Given the description of an element on the screen output the (x, y) to click on. 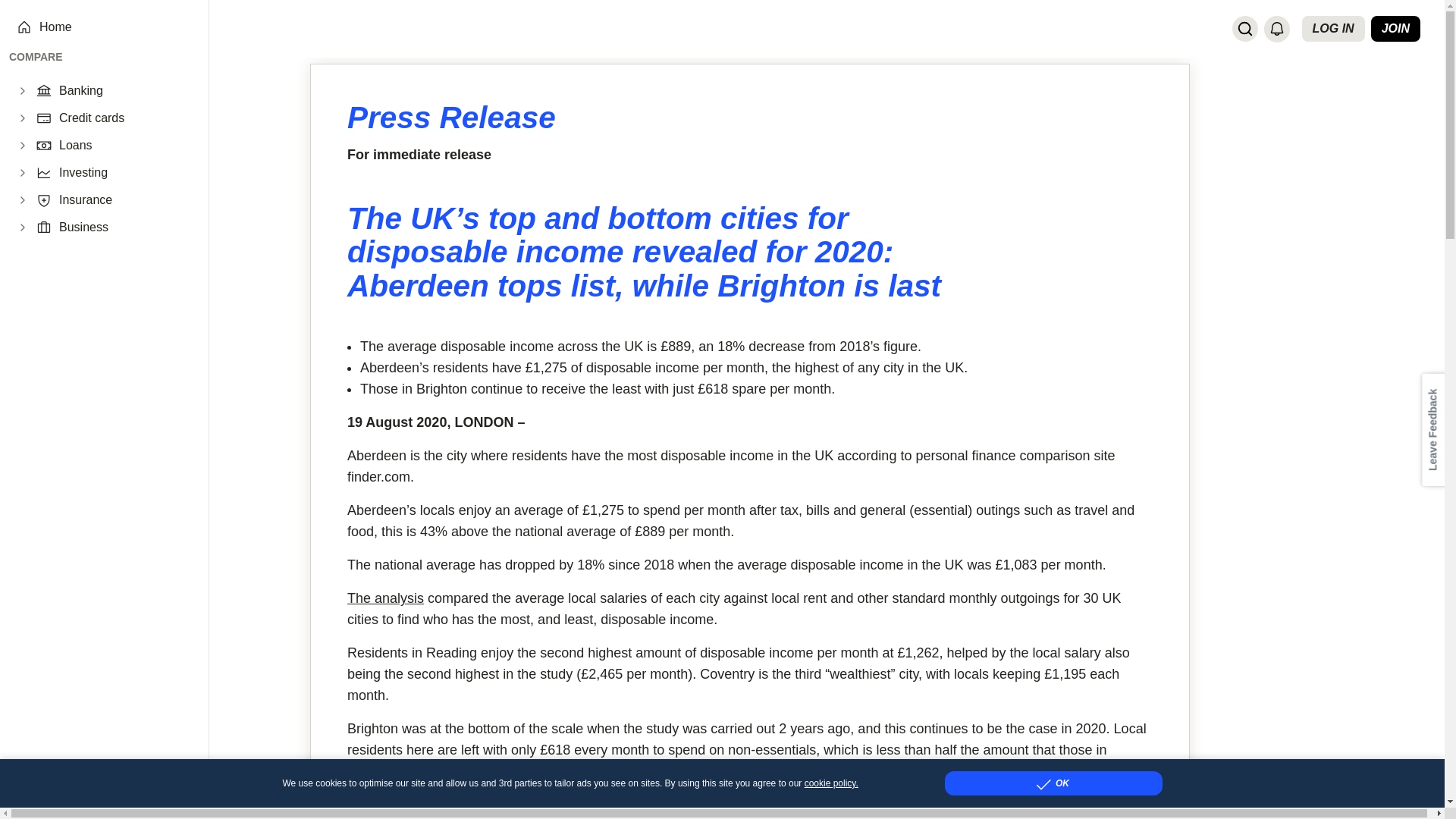
Loans (124, 145)
Home (114, 27)
Back to Top (1430, 793)
Banking (124, 90)
Credit cards (124, 117)
